Given the description of an element on the screen output the (x, y) to click on. 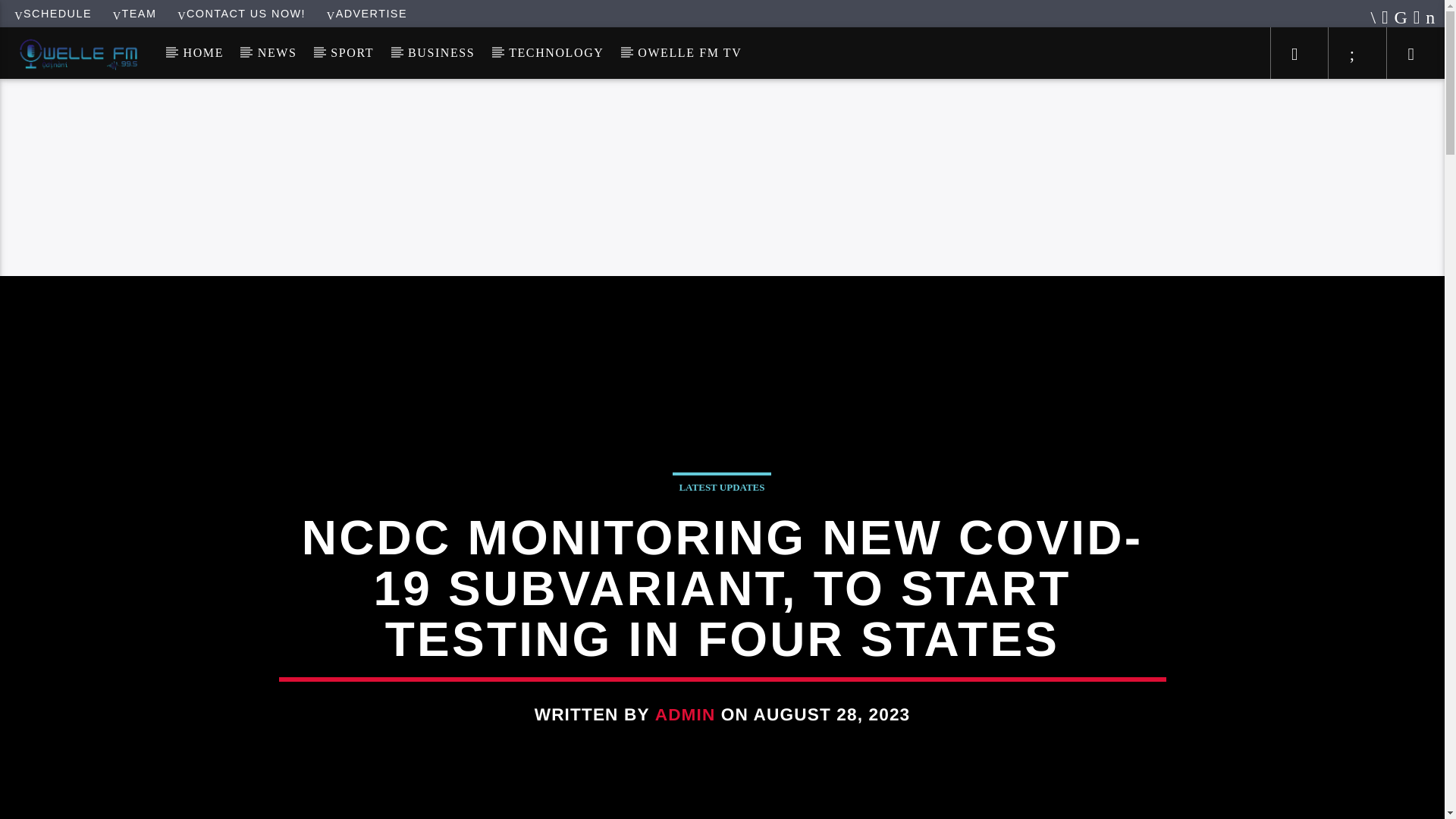
ADVERTISE (366, 13)
TECHNOLOGY (556, 52)
SPORT (352, 52)
SCHEDULE (52, 13)
Posts by admin (685, 714)
Search (1203, 100)
LATEST UPDATES (721, 485)
NEWS (277, 52)
ADMIN (685, 714)
TEAM (134, 13)
CONTACT US NOW! (241, 13)
HOME (202, 52)
OWELLE FM TV (689, 52)
BUSINESS (441, 52)
